Given the description of an element on the screen output the (x, y) to click on. 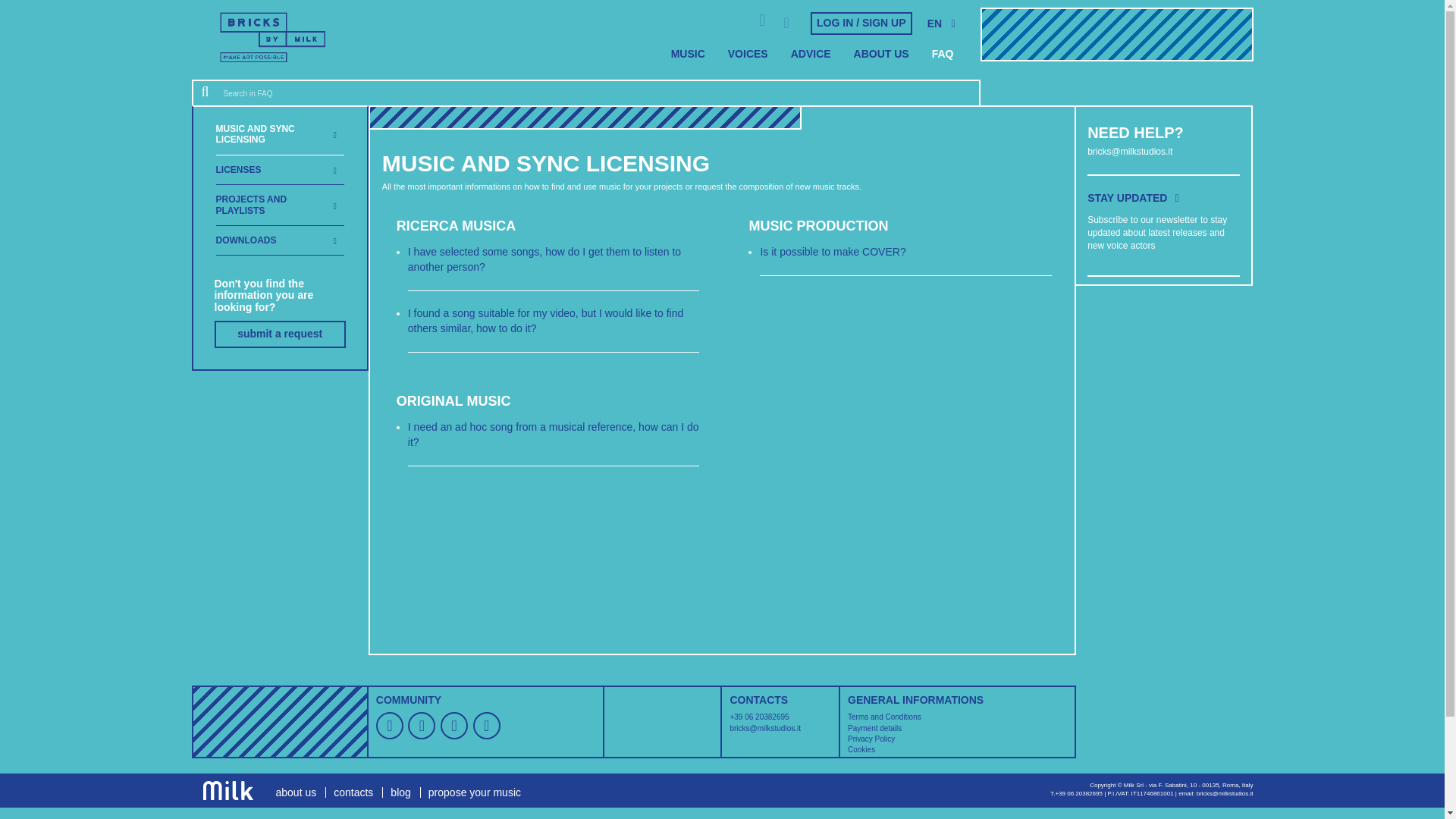
Find out more about Bricks by Milk (942, 53)
FAQ (942, 53)
VOICES (747, 53)
EN (937, 23)
ADVICE (810, 53)
MUSIC (687, 53)
ABOUT US (881, 53)
